Given the description of an element on the screen output the (x, y) to click on. 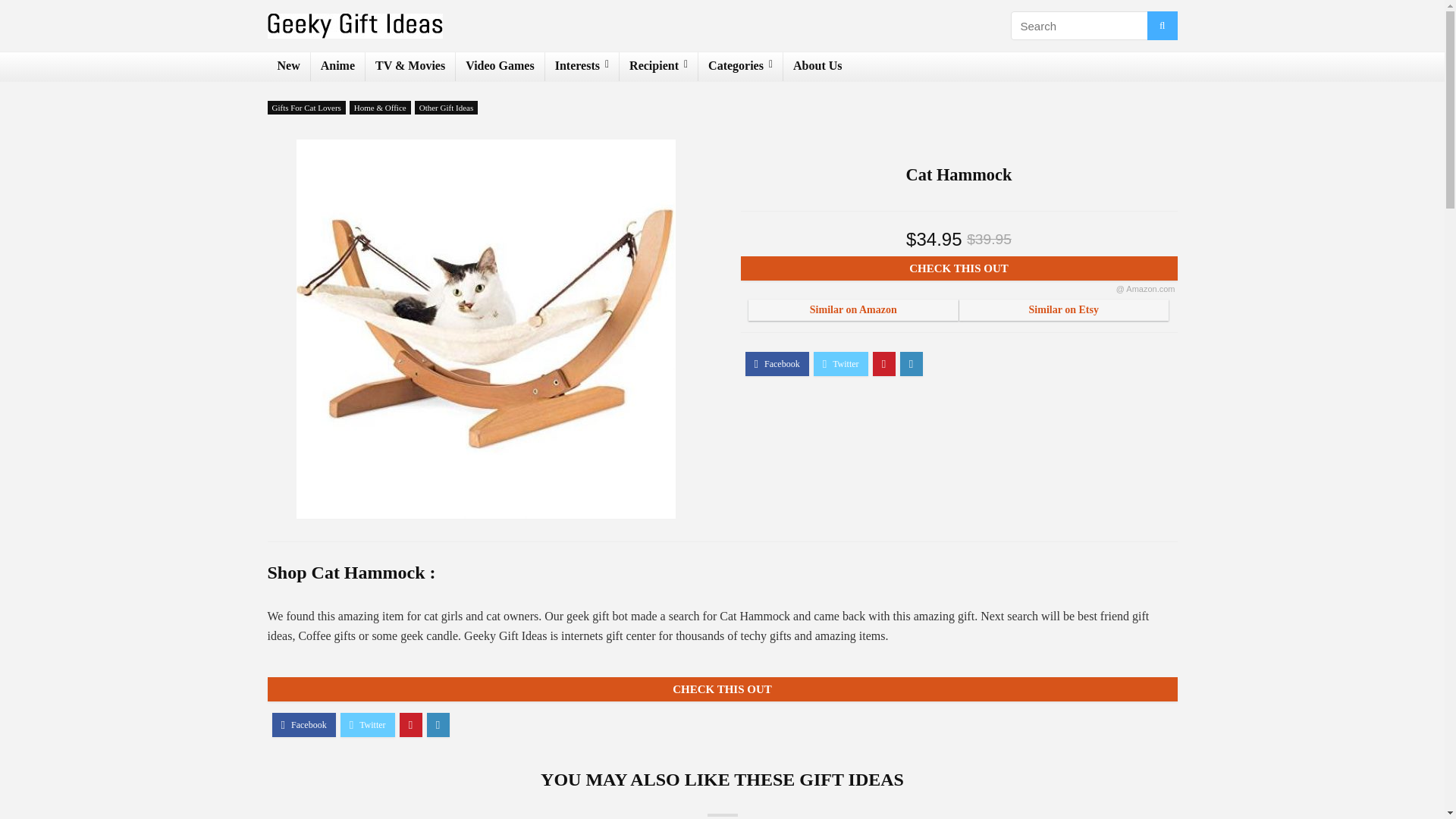
View all posts in Other Gift Ideas (445, 107)
New (287, 66)
Video Games (499, 66)
Anime (338, 66)
Interests (581, 66)
View all posts in Gifts For Cat Lovers (305, 107)
